Given the description of an element on the screen output the (x, y) to click on. 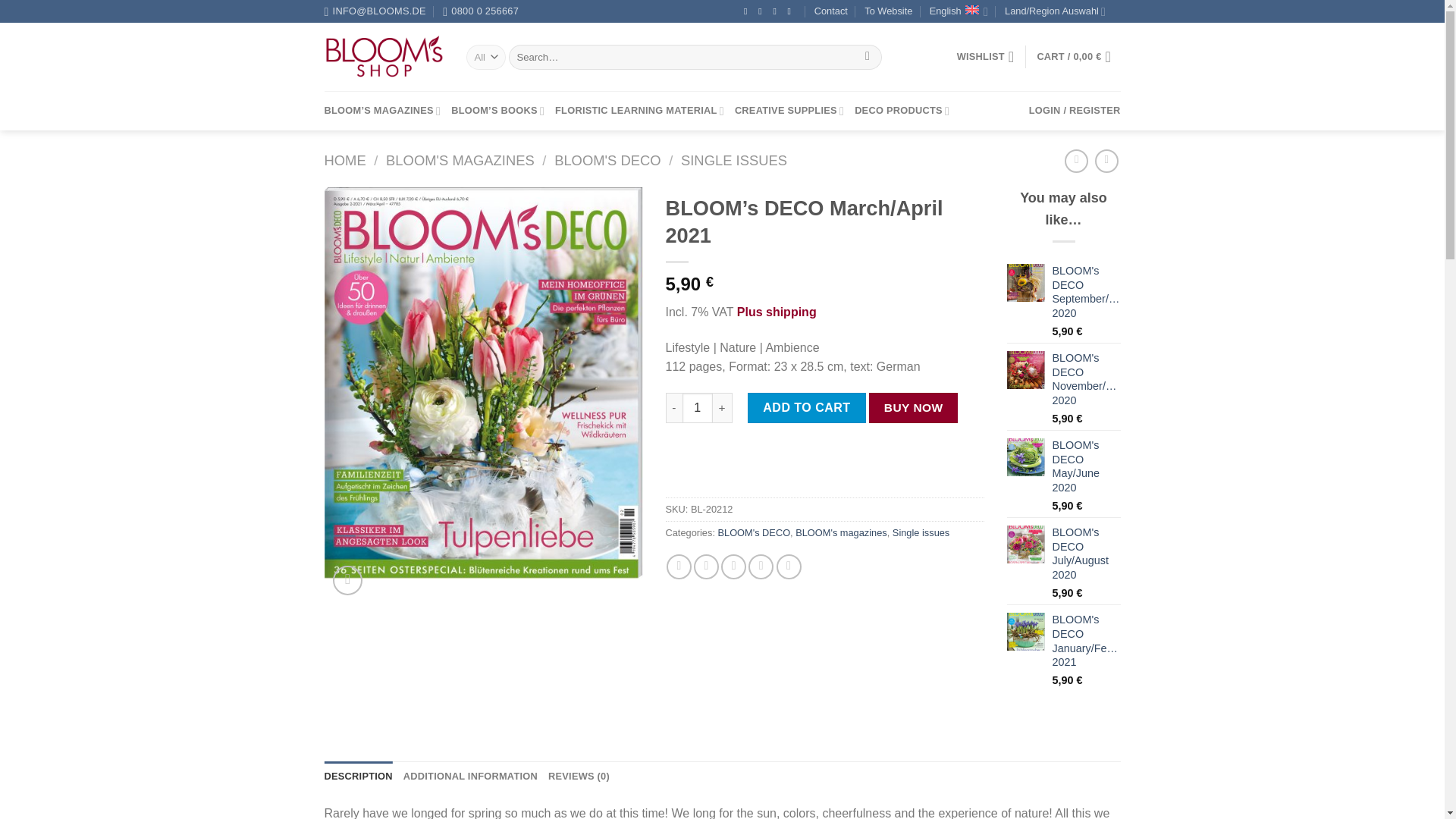
Search (868, 57)
Follow on YouTube (791, 10)
Follow on Instagram (762, 10)
0800 0 256667 (480, 11)
PayPal (824, 468)
Follow on Pinterest (777, 10)
English (959, 11)
0800 0 256667 (480, 11)
WISHLIST (985, 56)
bl-20212.jpg (483, 382)
BLOOM's Webshop - Just another WordPress site (384, 57)
Qty (697, 408)
Contact (830, 11)
To Website (888, 11)
Zoom (347, 580)
